Given the description of an element on the screen output the (x, y) to click on. 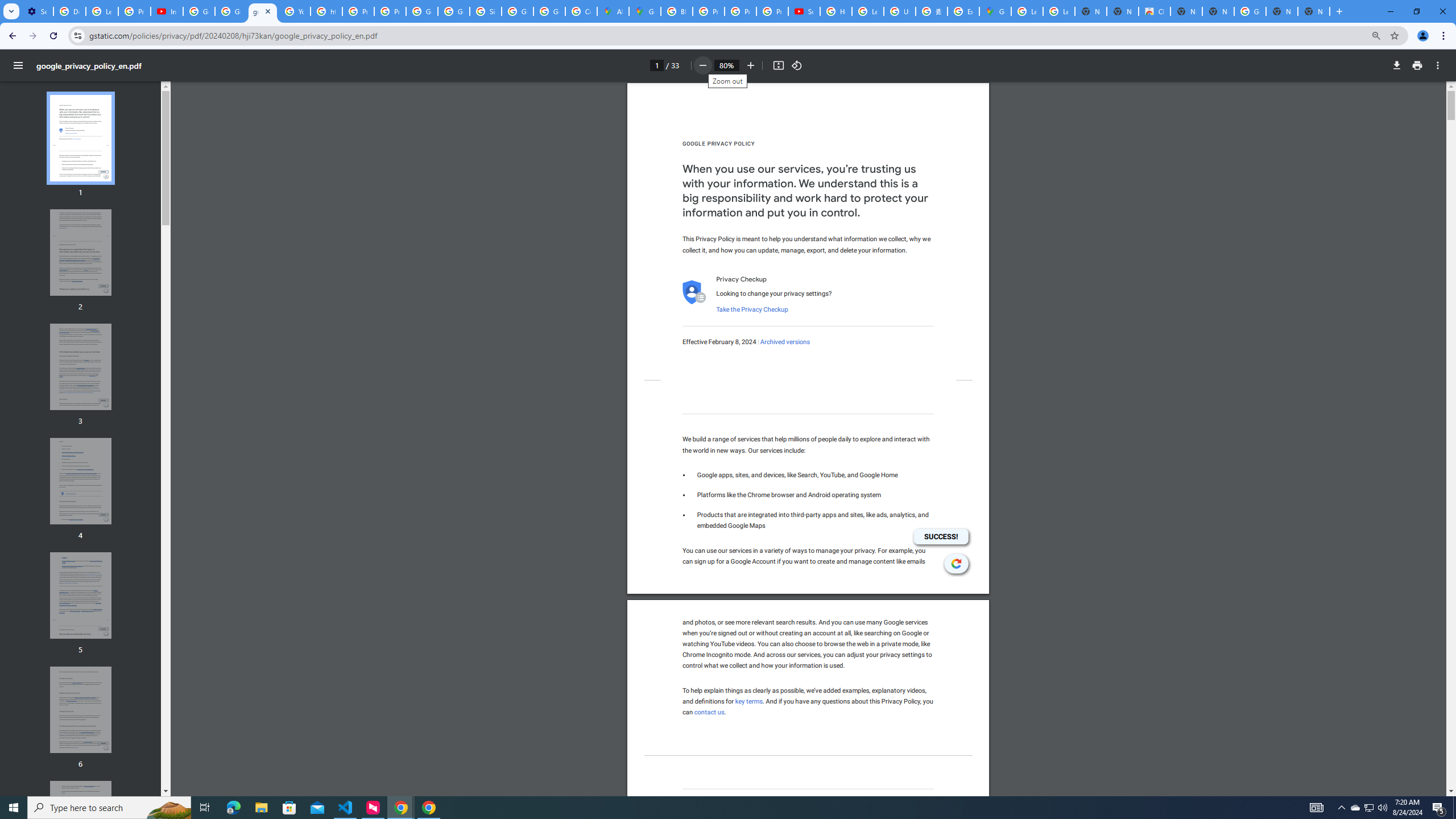
key terms (748, 700)
Page number (656, 64)
Menu (17, 65)
Privacy Help Center - Policies Help (358, 11)
Privacy Help Center - Policies Help (708, 11)
Chrome Web Store (1154, 11)
Archived versions (784, 342)
Introduction | Google Privacy Policy - YouTube (166, 11)
Privacy Help Center - Policies Help (740, 11)
https://scholar.google.com/ (326, 11)
contact us (709, 711)
